Given the description of an element on the screen output the (x, y) to click on. 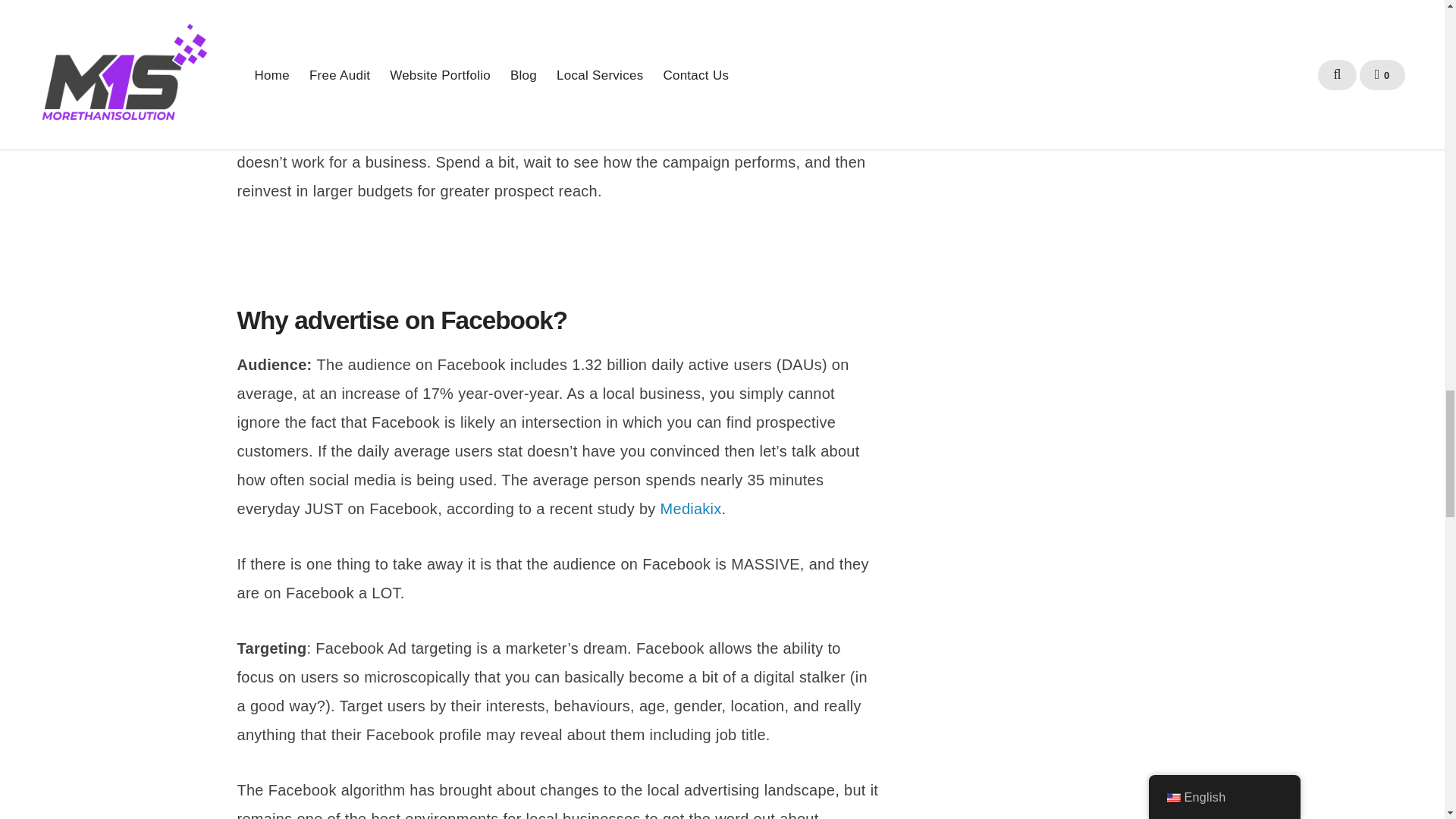
Mediakix (691, 508)
3.5 Billion Google searches conducted every single day (464, 20)
